Given the description of an element on the screen output the (x, y) to click on. 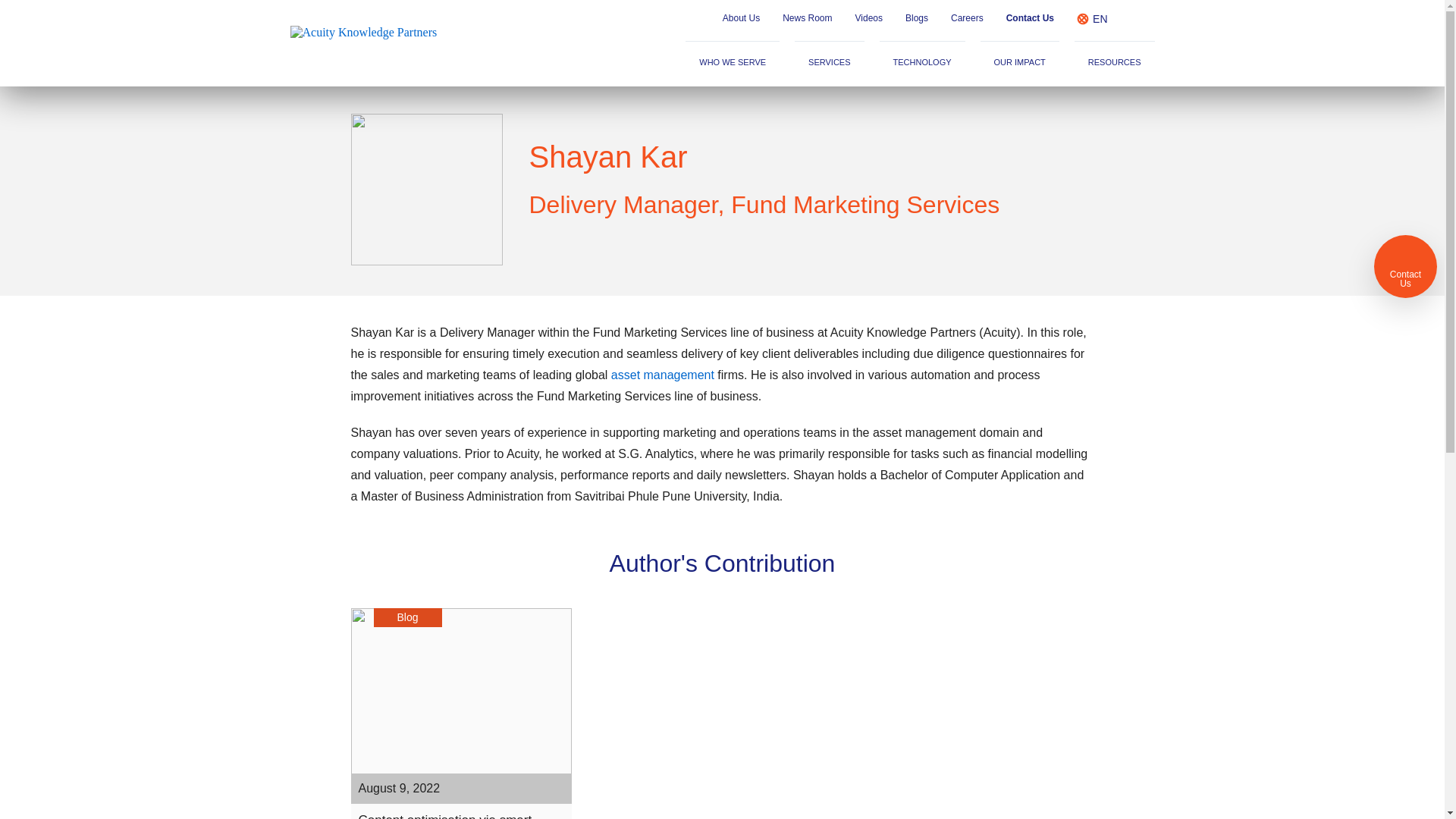
Acuity Knowledge Partners (370, 42)
WHO WE SERVE (731, 63)
SERVICES (828, 63)
